Given the description of an element on the screen output the (x, y) to click on. 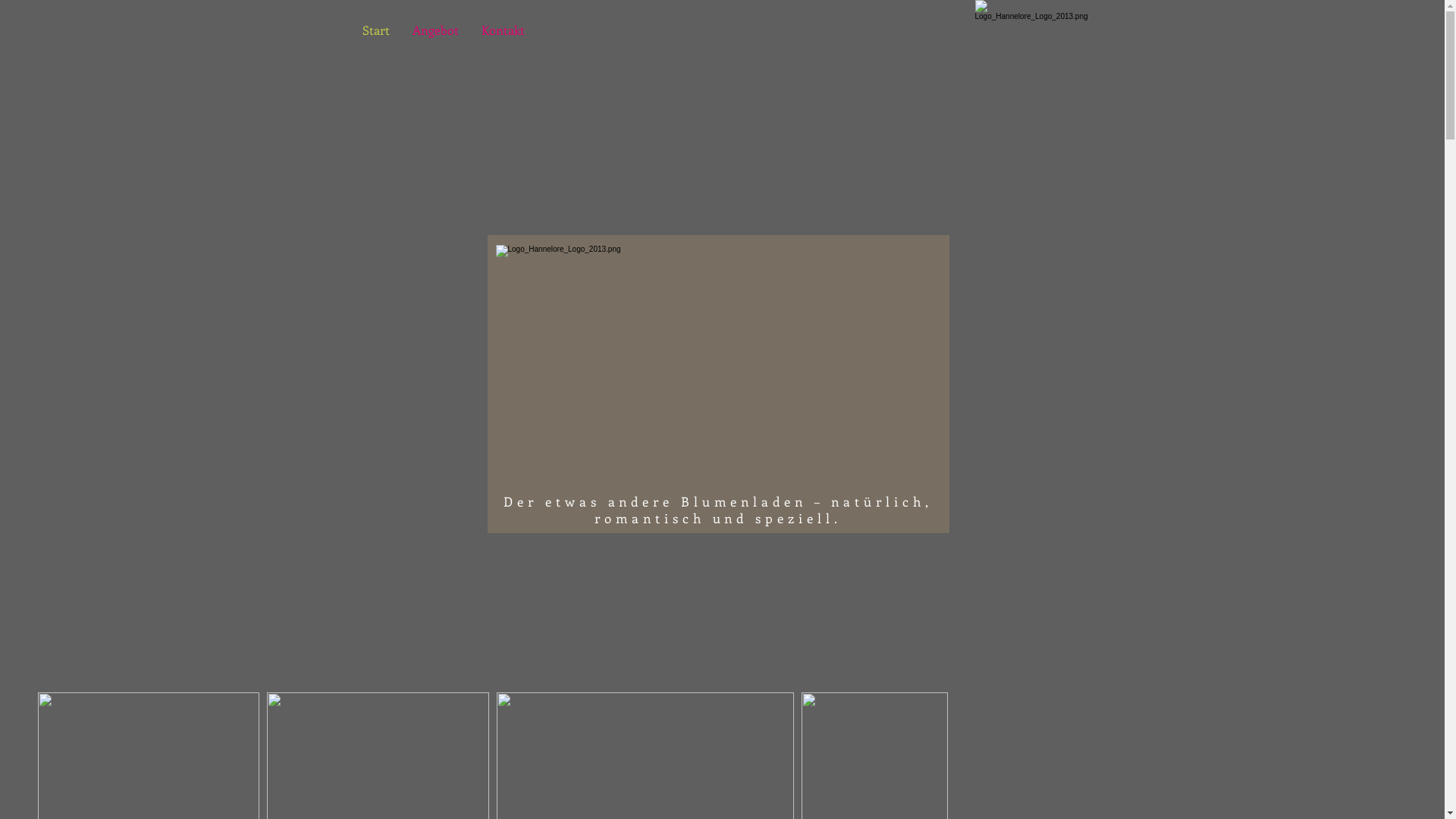
Kontakt Element type: text (503, 30)
Start Element type: text (375, 30)
Angebot Element type: text (434, 30)
